Given the description of an element on the screen output the (x, y) to click on. 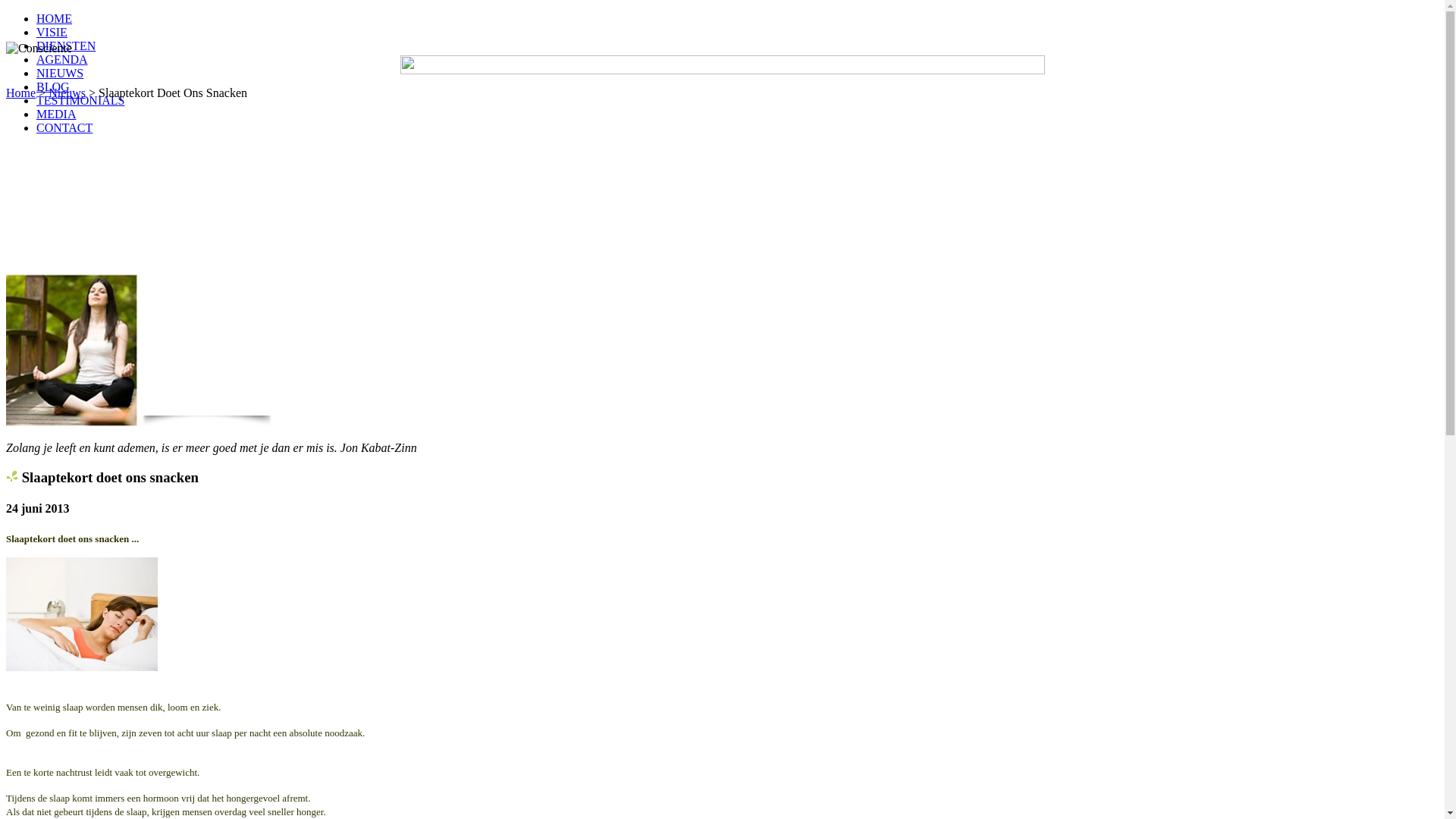
Home Element type: text (20, 92)
AGENDA Element type: text (61, 59)
BLOG Element type: text (52, 86)
VISIE Element type: text (51, 31)
CONTACT Element type: text (64, 127)
DIENSTEN Element type: text (65, 45)
Nieuws Element type: text (66, 92)
MEDIA Element type: text (55, 113)
NIEUWS Element type: text (59, 72)
TESTIMONIALS Element type: text (80, 100)
HOME Element type: text (54, 18)
